Given the description of an element on the screen output the (x, y) to click on. 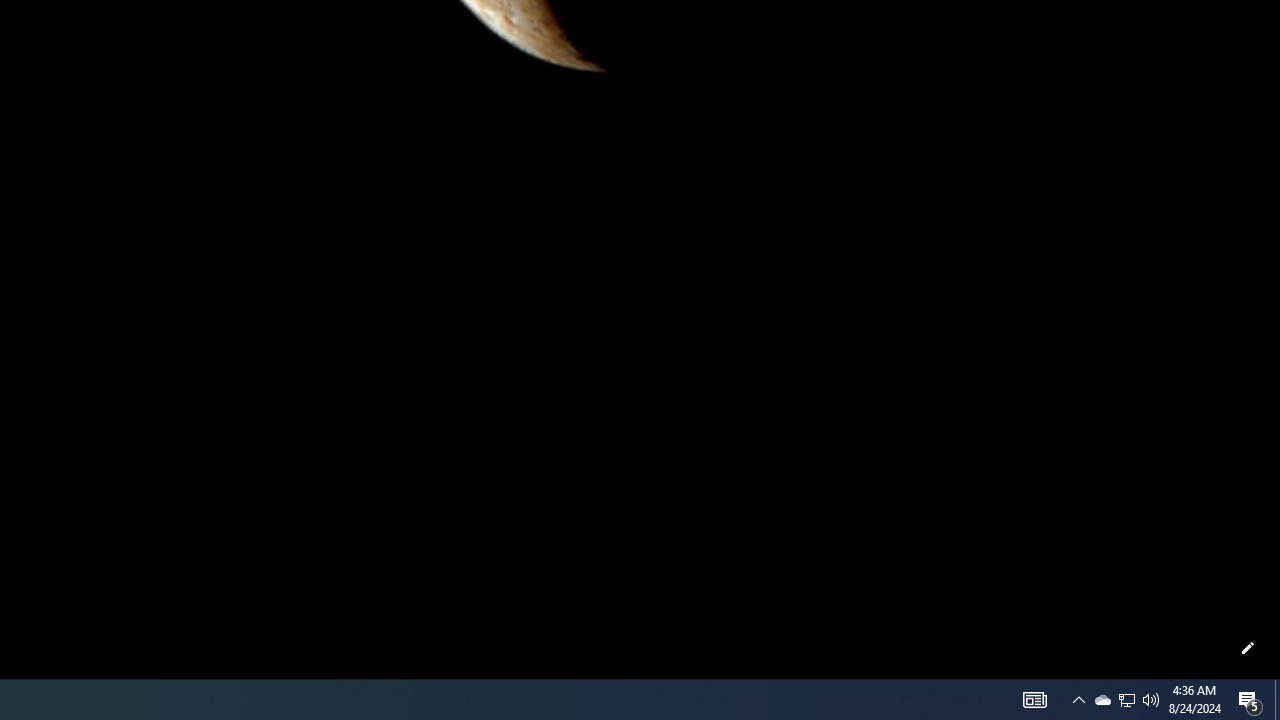
Customize this page (1247, 647)
